Given the description of an element on the screen output the (x, y) to click on. 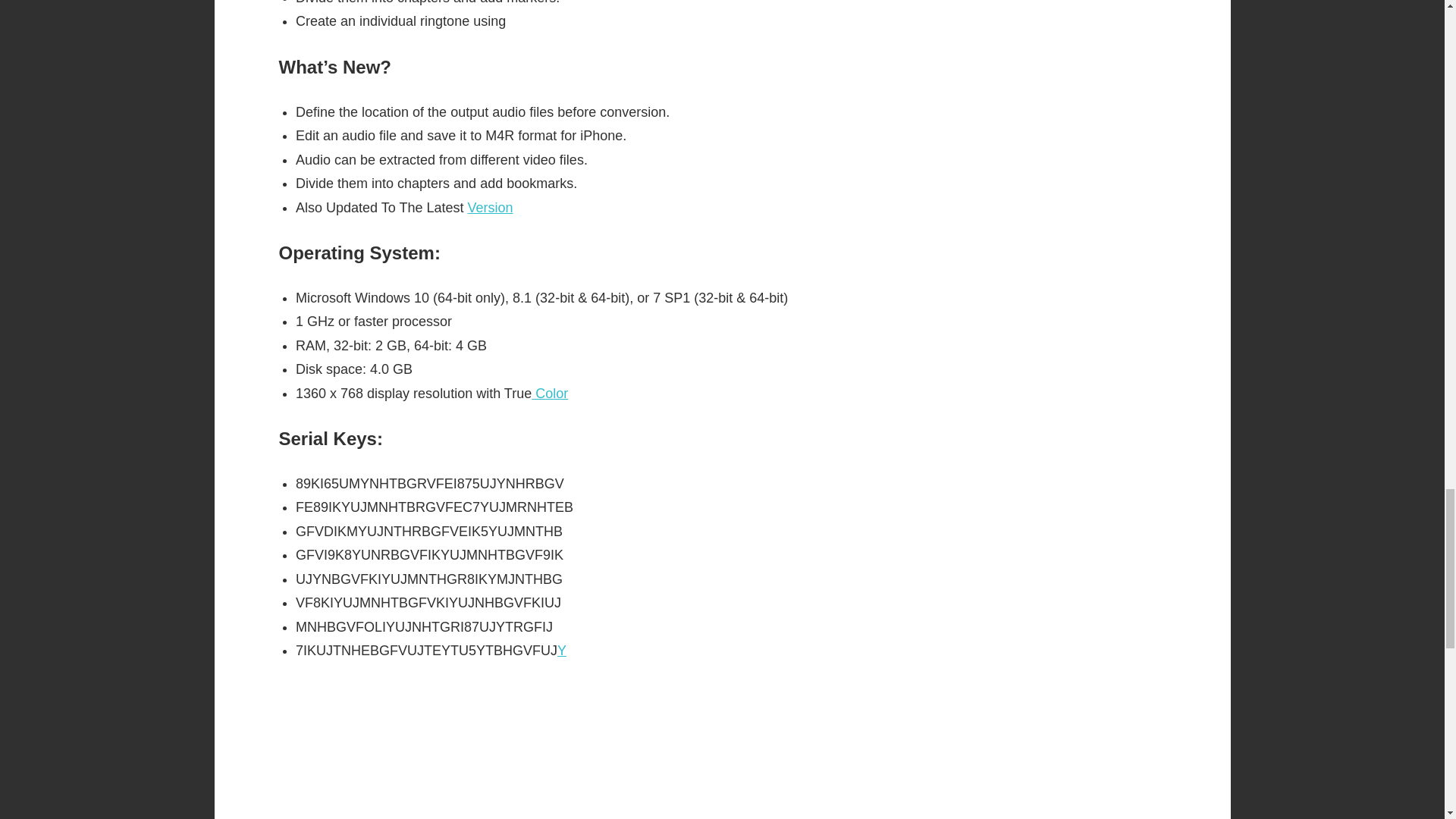
How to start working with AVS Audio Converter? (585, 751)
Version (489, 207)
Color (549, 393)
